Given the description of an element on the screen output the (x, y) to click on. 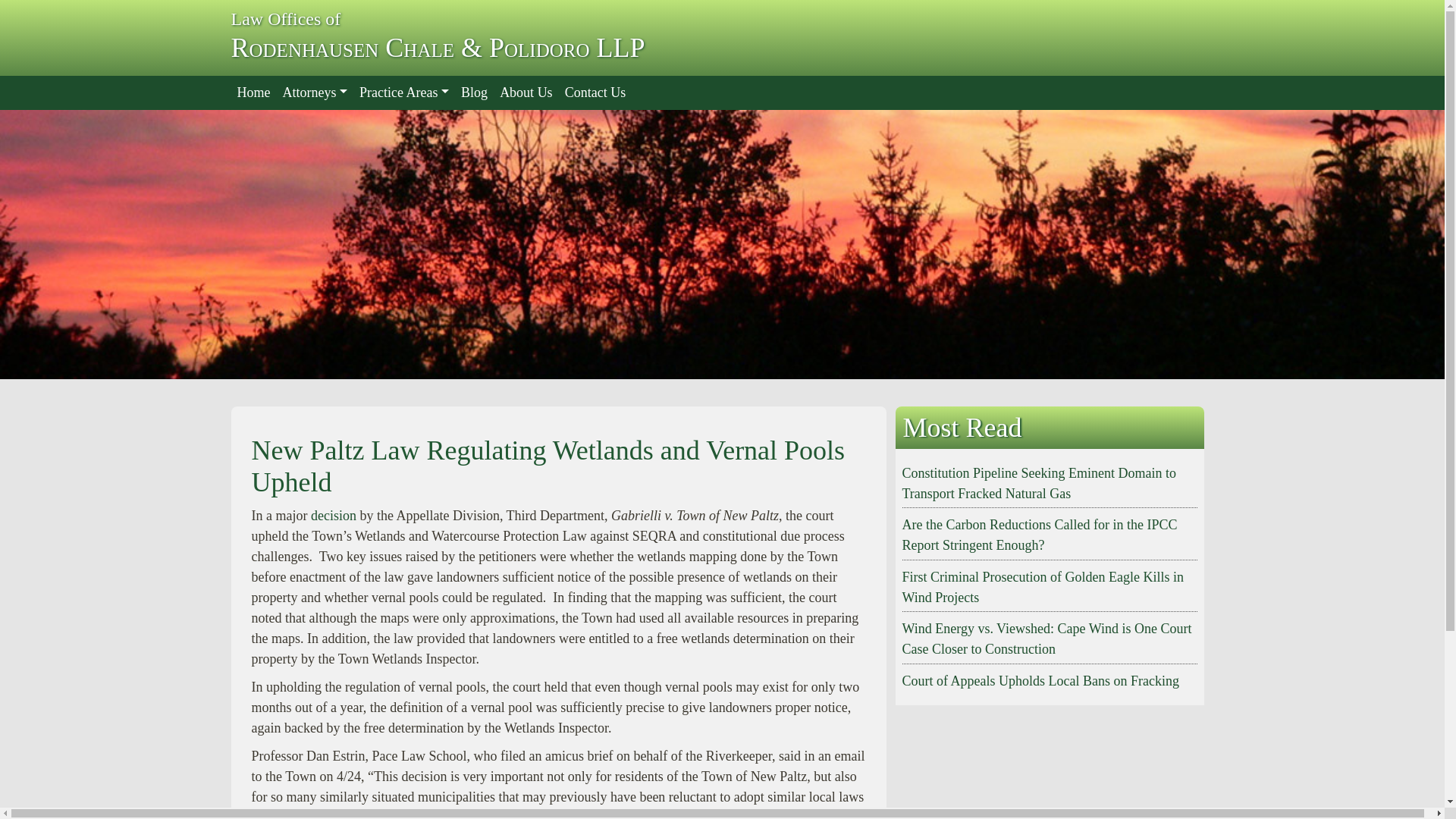
Attorneys (314, 92)
Contact Us (595, 92)
decision (335, 515)
Court of Appeals Upholds Local Bans on Fracking (1040, 680)
Blog (473, 92)
Home (253, 92)
About Us (526, 92)
Practice Areas (403, 92)
